Given the description of an element on the screen output the (x, y) to click on. 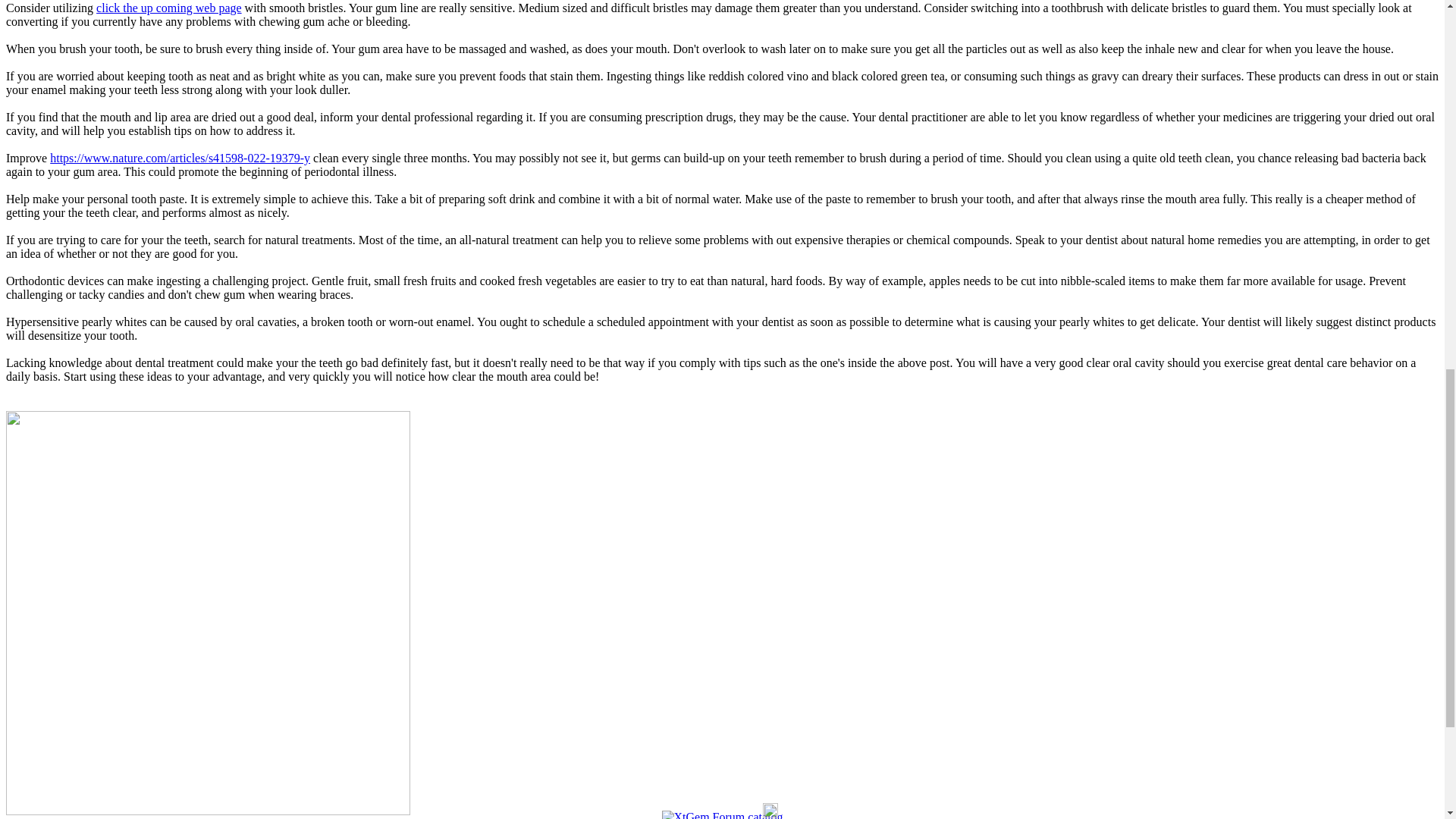
click the up coming web page (168, 7)
